Given the description of an element on the screen output the (x, y) to click on. 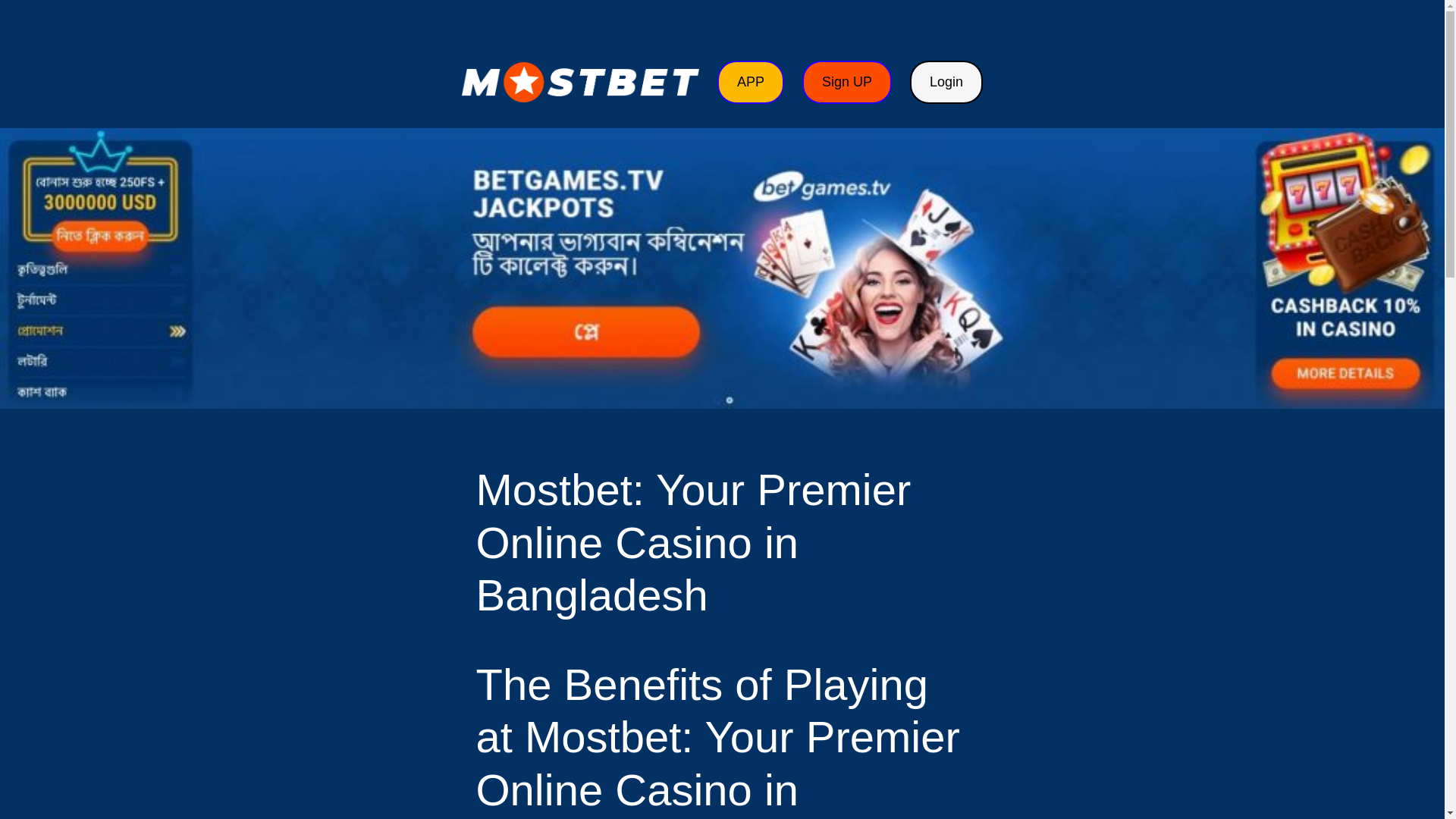
APP (750, 82)
Login (946, 82)
Sign UP (846, 82)
